Given the description of an element on the screen output the (x, y) to click on. 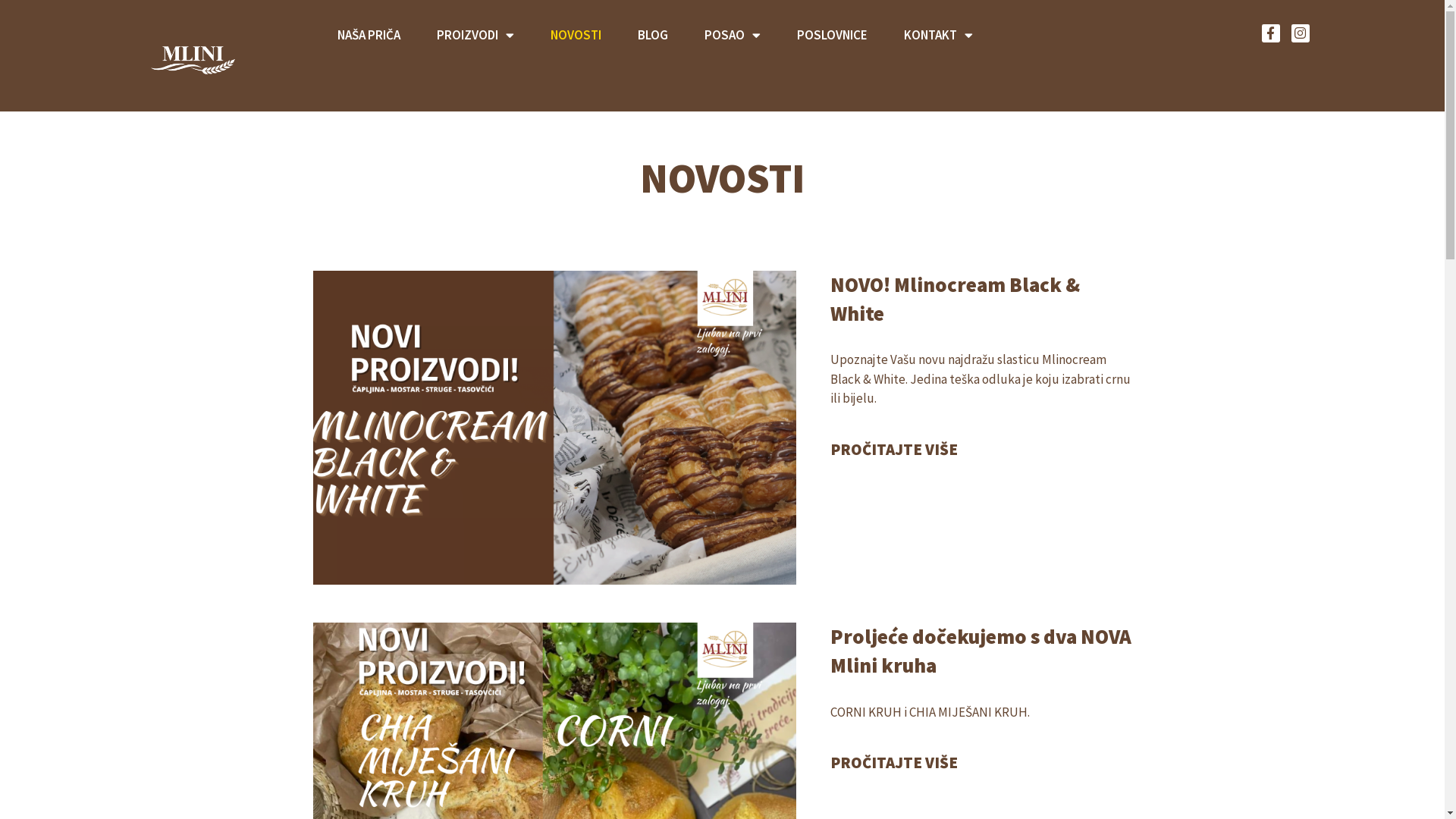
NOVO! Mlinocream Black & White Element type: text (954, 298)
POSLOVNICE Element type: text (831, 34)
NOVOSTI Element type: text (575, 34)
PROIZVODI Element type: text (475, 34)
BLOG Element type: text (652, 34)
KONTAKT Element type: text (938, 34)
POSAO Element type: text (732, 34)
